Given the description of an element on the screen output the (x, y) to click on. 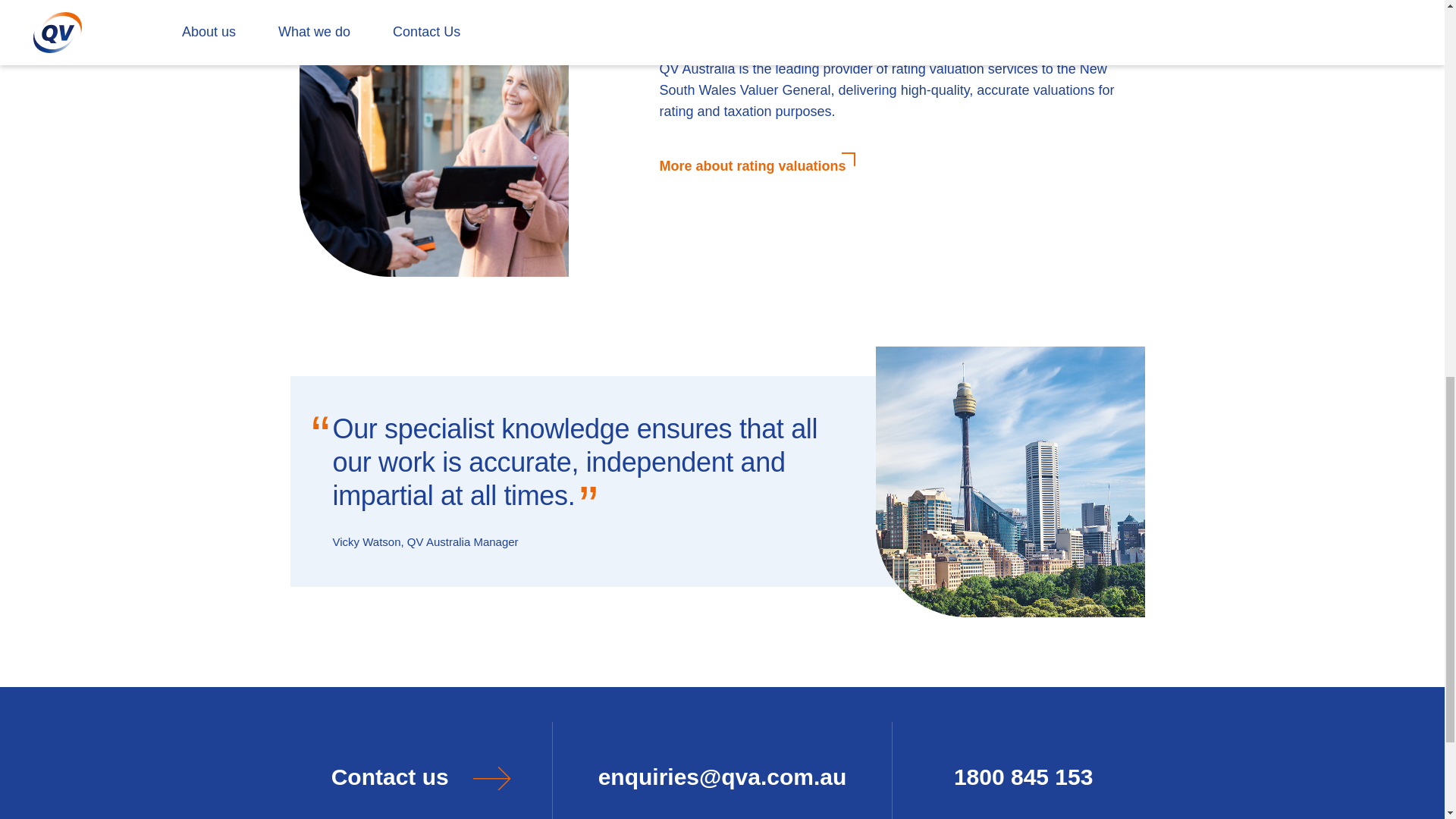
1800 845 153 (1023, 770)
Contact us (420, 770)
More about rating valuations (755, 165)
